Given the description of an element on the screen output the (x, y) to click on. 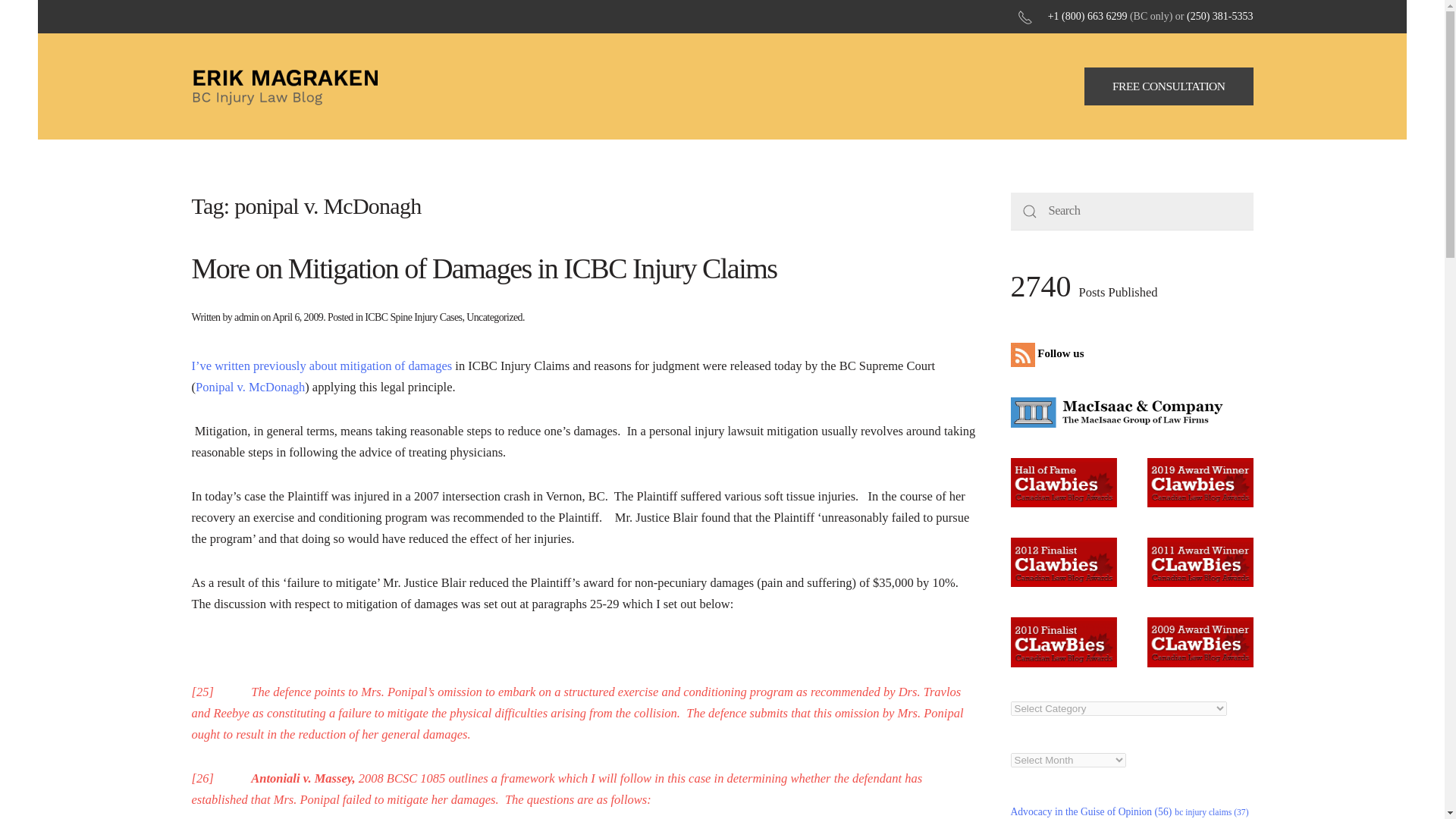
More on Mitigation of Damages in ICBC Injury Claims (483, 268)
Uncategorized (493, 317)
ICBC Spine Injury Cases (413, 317)
admin (246, 317)
FREE CONSULTATION (1168, 86)
Follow us (1050, 353)
Ponipal v. McDonagh (249, 386)
